Given the description of an element on the screen output the (x, y) to click on. 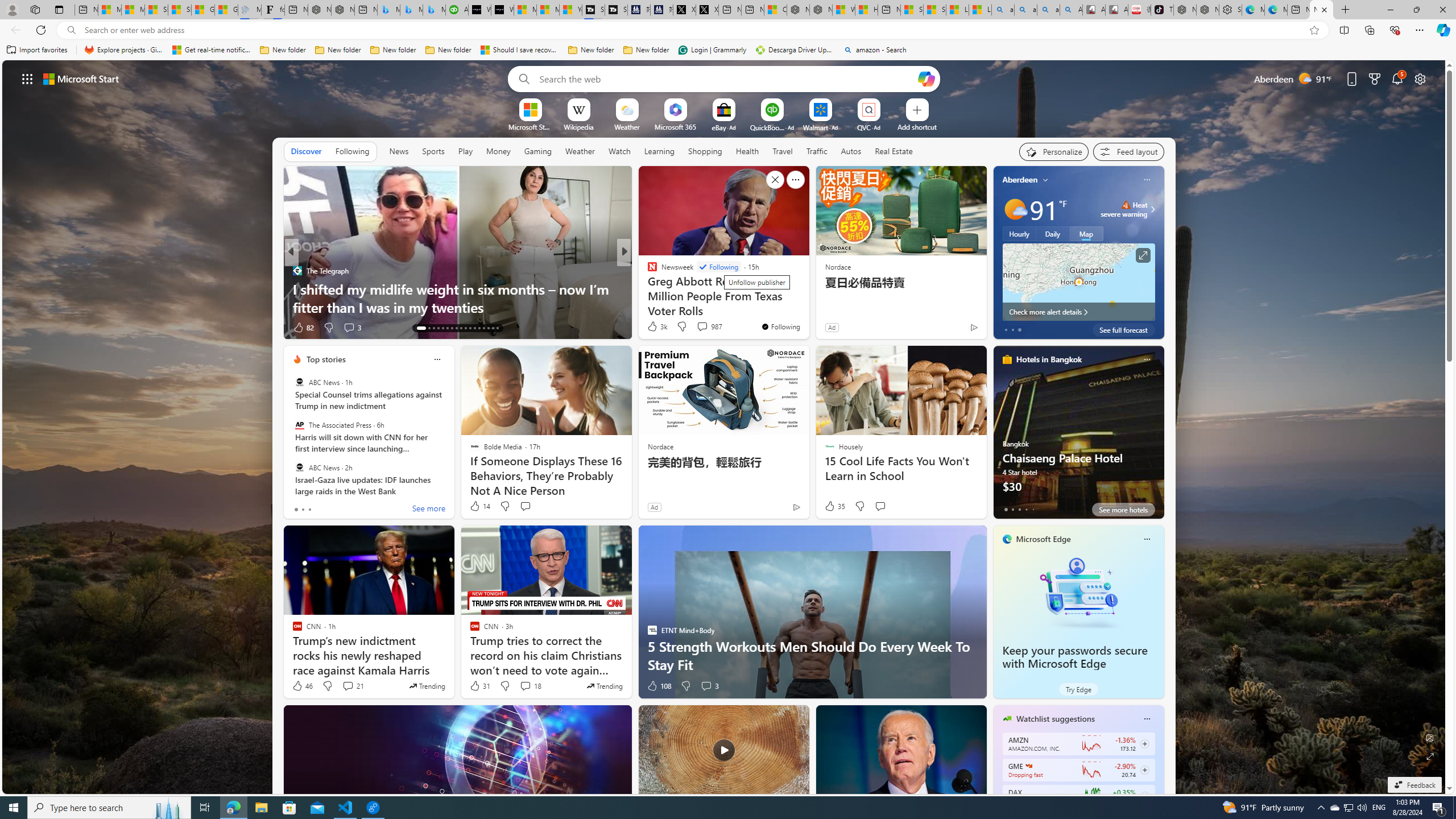
GAMESTOP CORP. (1028, 765)
Should I save recovered Word documents? - Microsoft Support (519, 49)
View comments 2 Comment (698, 327)
Search icon (70, 29)
PsychLove (647, 270)
